Given the description of an element on the screen output the (x, y) to click on. 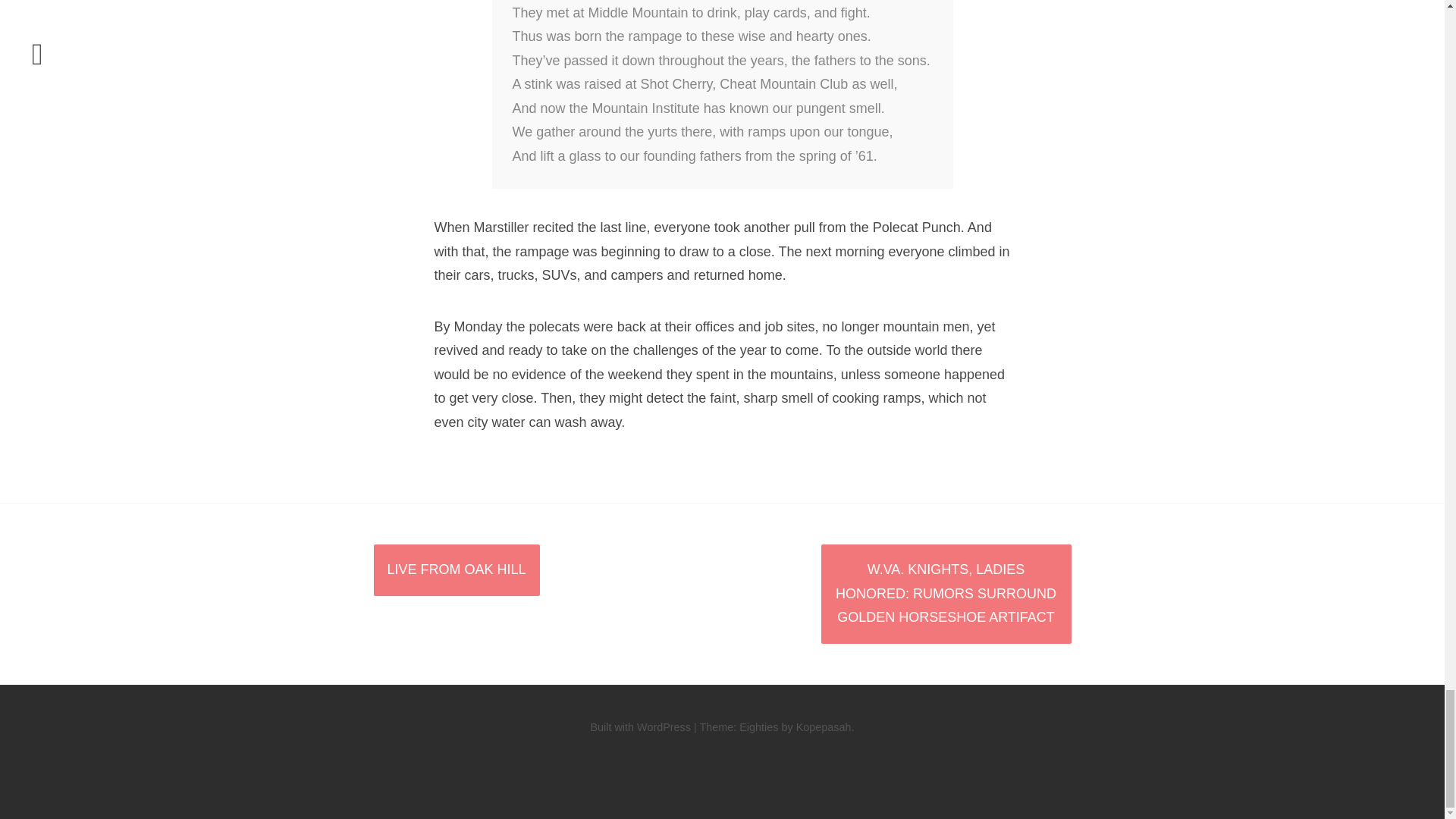
LIVE FROM OAK HILL (455, 570)
Eighties (758, 727)
Kopepasah (823, 727)
Built with WordPress (639, 727)
